Given the description of an element on the screen output the (x, y) to click on. 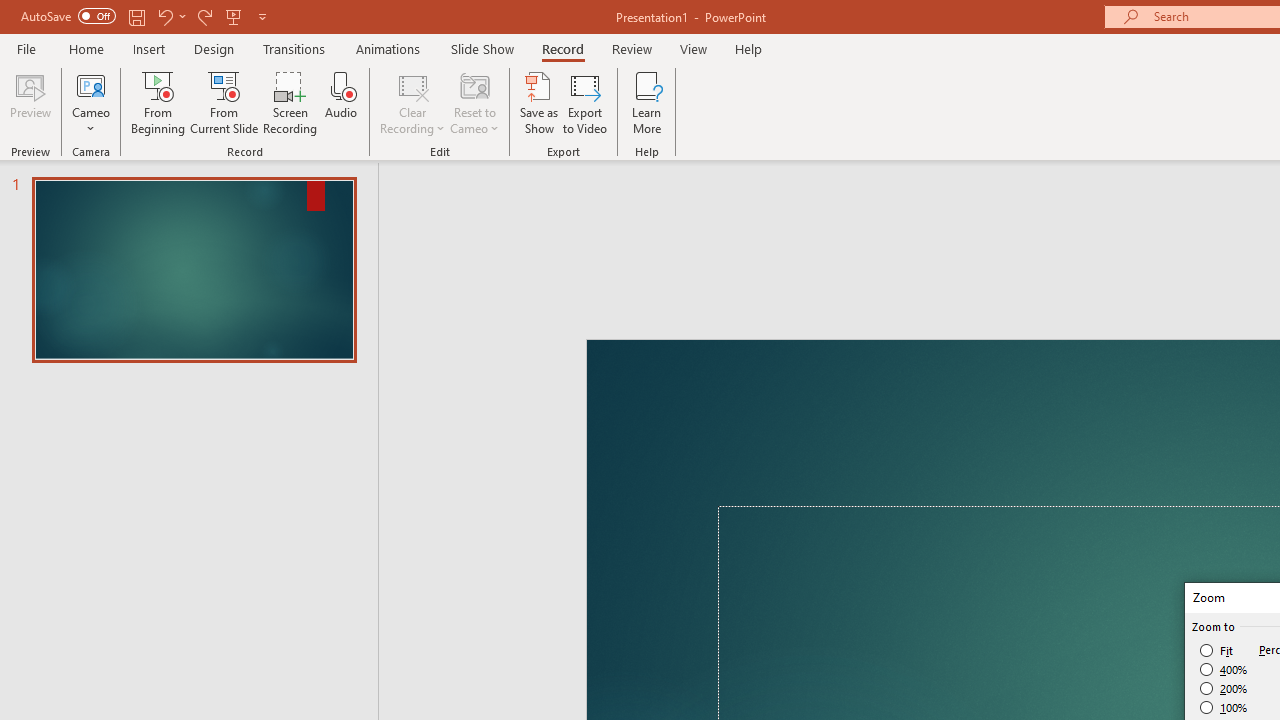
Match Fields... (1057, 161)
Highlight Merge Fields (664, 161)
Draw (413, 84)
Customize Quick Access Toolbar (384, 32)
Envelopes... (155, 161)
Zotero (1166, 84)
Insert Merge Field (927, 161)
Insert Merge Field (927, 136)
File Tab (46, 84)
Insert (337, 84)
Update Labels (1064, 196)
Greeting Line... (833, 161)
Edit Recipient List... (532, 161)
Preview Results (1202, 161)
Select Recipients (423, 161)
